Given the description of an element on the screen output the (x, y) to click on. 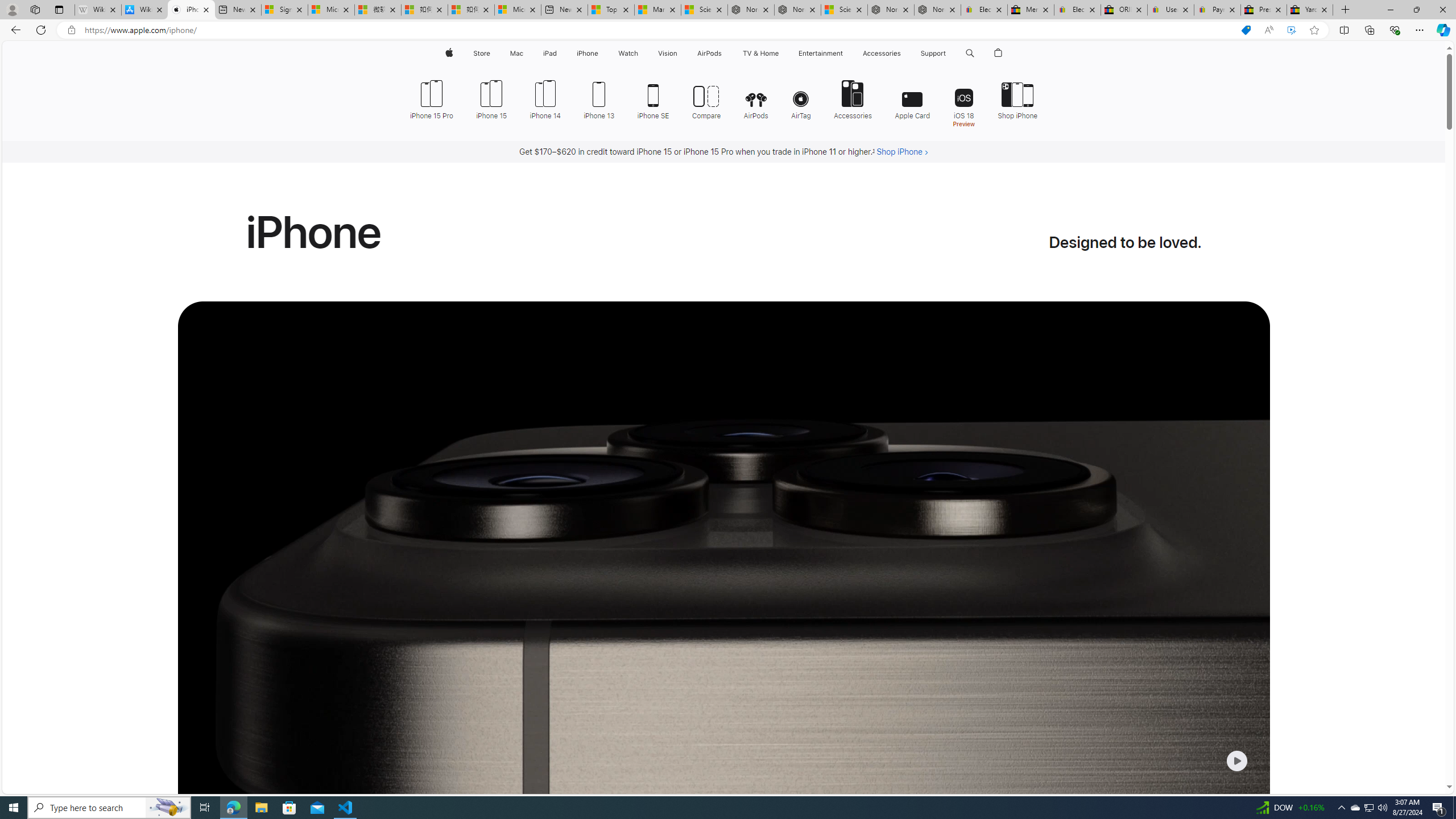
Apple (448, 53)
iPhone 13 (598, 98)
Store (481, 53)
Yard, Garden & Outdoor Living (1309, 9)
iPhone (587, 53)
TV & Home (759, 53)
Store menu (492, 53)
Watch menu (640, 53)
AirPods (756, 98)
Accessories (853, 98)
Apple (448, 53)
